Given the description of an element on the screen output the (x, y) to click on. 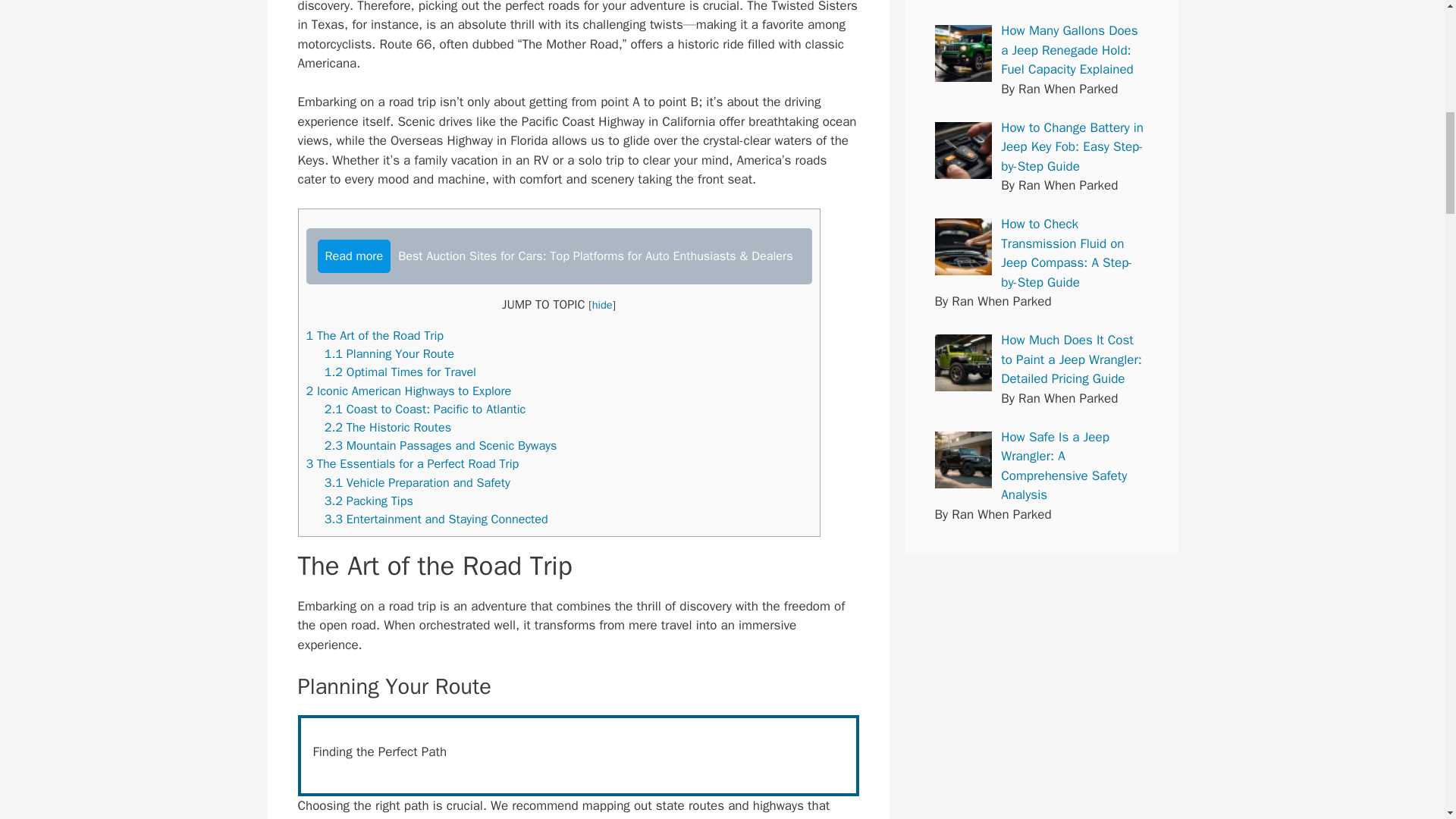
2.3 Mountain Passages and Scenic Byways (440, 445)
hide (602, 305)
2 Iconic American Highways to Explore (408, 390)
3.1 Vehicle Preparation and Safety (417, 482)
1.2 Optimal Times for Travel (400, 371)
2.1 Coast to Coast: Pacific to Atlantic (424, 408)
3 The Essentials for a Perfect Road Trip (412, 463)
2.2 The Historic Routes (387, 426)
1 The Art of the Road Trip (374, 335)
1.1 Planning Your Route (389, 353)
